Given the description of an element on the screen output the (x, y) to click on. 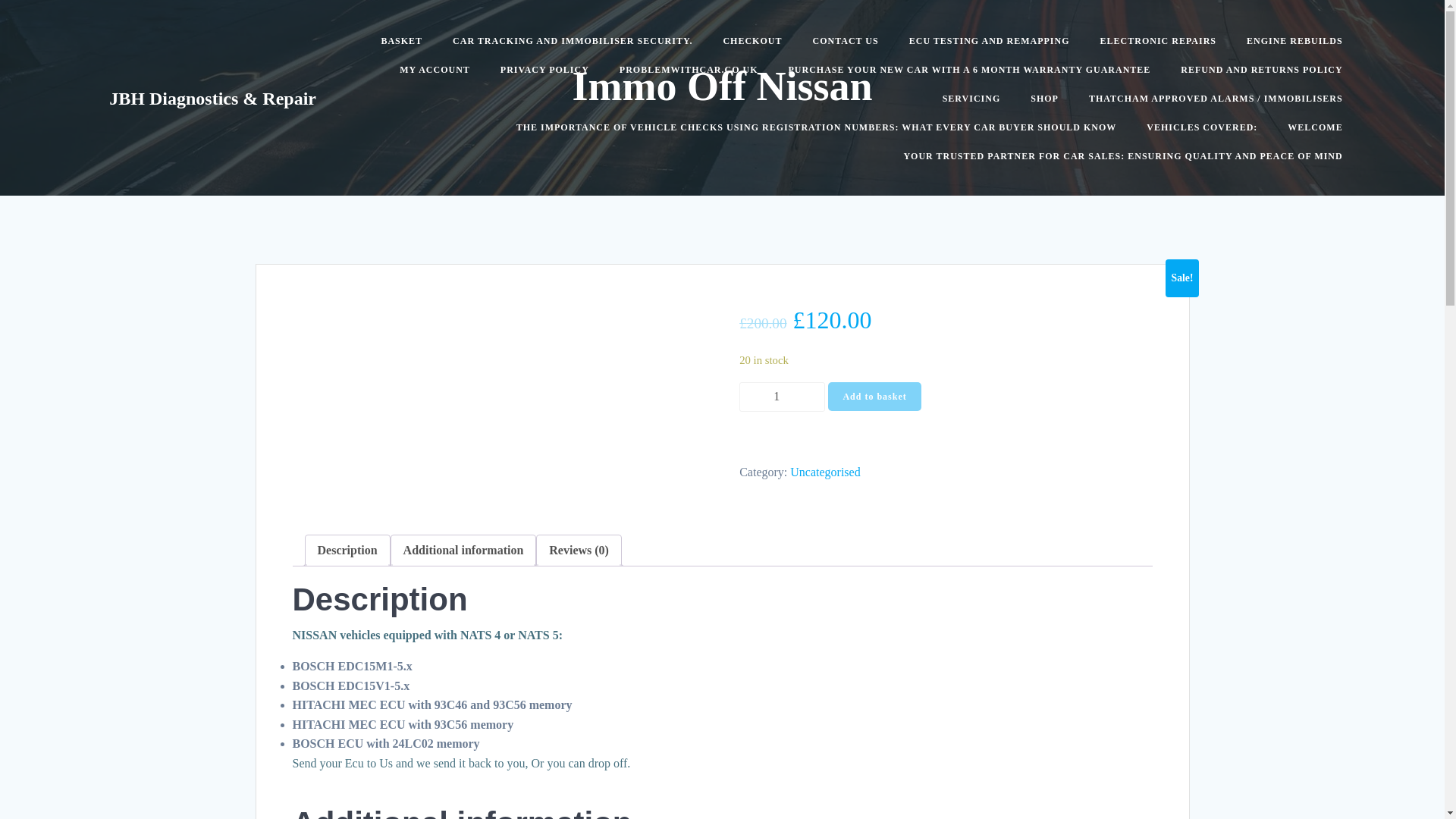
WELCOME (1314, 127)
SHOP (1044, 98)
REFUND AND RETURNS POLICY (1261, 69)
ENGINE REBUILDS (1294, 40)
CAR TRACKING AND IMMOBILISER SECURITY. (572, 40)
PROBLEMWITHCAR.CO.UK (689, 69)
ECU TESTING AND REMAPPING (989, 40)
PRIVACY POLICY (544, 69)
ELECTRONIC REPAIRS (1157, 40)
SERVICING (971, 98)
CONTACT US (844, 40)
VEHICLES COVERED: (1202, 127)
MY ACCOUNT (434, 69)
